Given the description of an element on the screen output the (x, y) to click on. 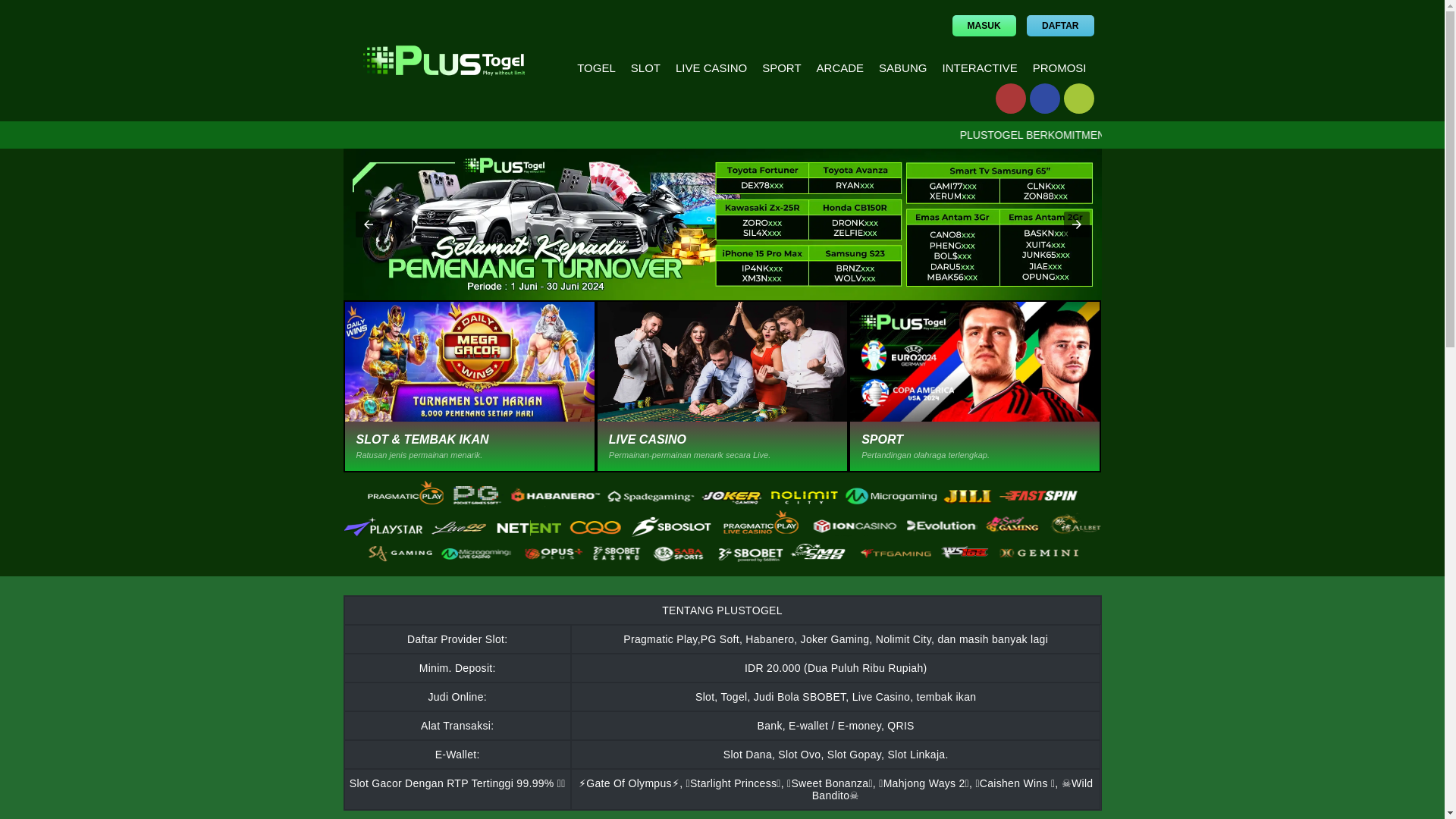
SPORT (781, 68)
Provider (721, 523)
LIVE CASINO (721, 361)
TOGEL (596, 68)
SLOT (645, 68)
INTERACTIVE (979, 68)
SPORT (974, 361)
SABUNG (902, 68)
LIVE CASINO (711, 68)
MASUK (984, 25)
